Given the description of an element on the screen output the (x, y) to click on. 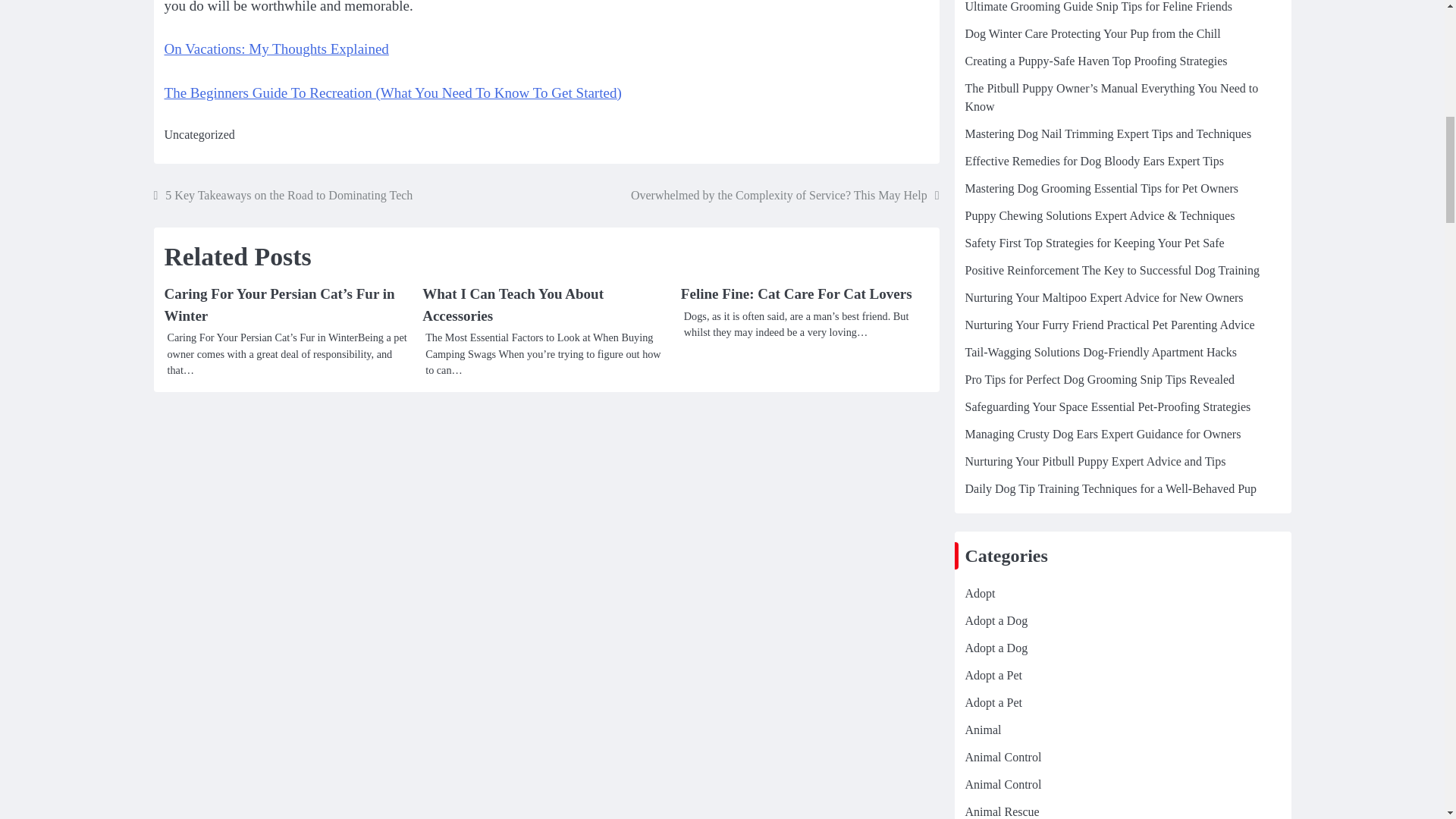
On Vacations: My Thoughts Explained (275, 48)
5 Key Takeaways on the Road to Dominating Tech (282, 195)
What I Can Teach You About Accessories (513, 304)
Overwhelmed by the Complexity of Service? This May Help (784, 195)
